Given the description of an element on the screen output the (x, y) to click on. 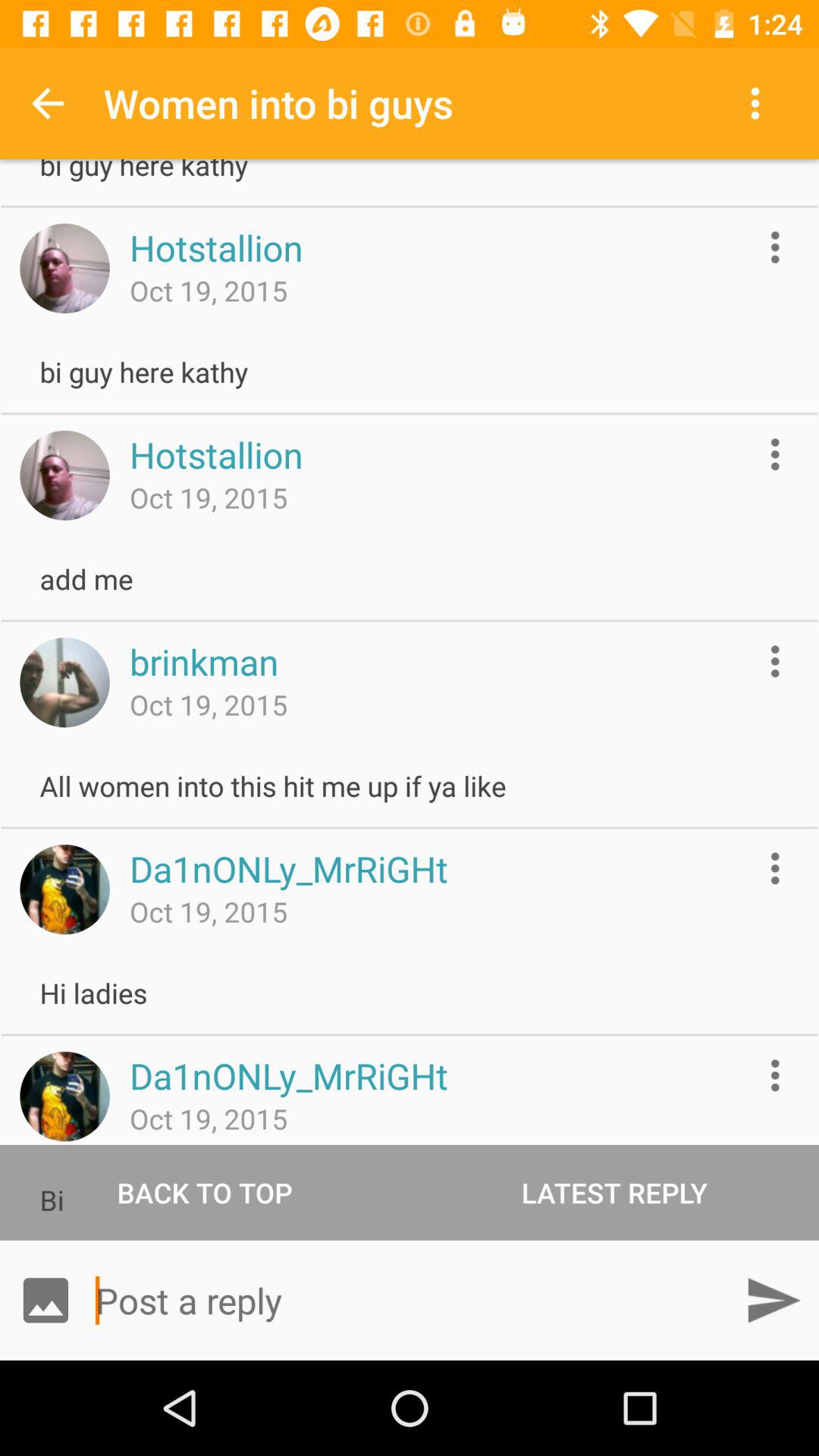
open an user profile (64, 268)
